Given the description of an element on the screen output the (x, y) to click on. 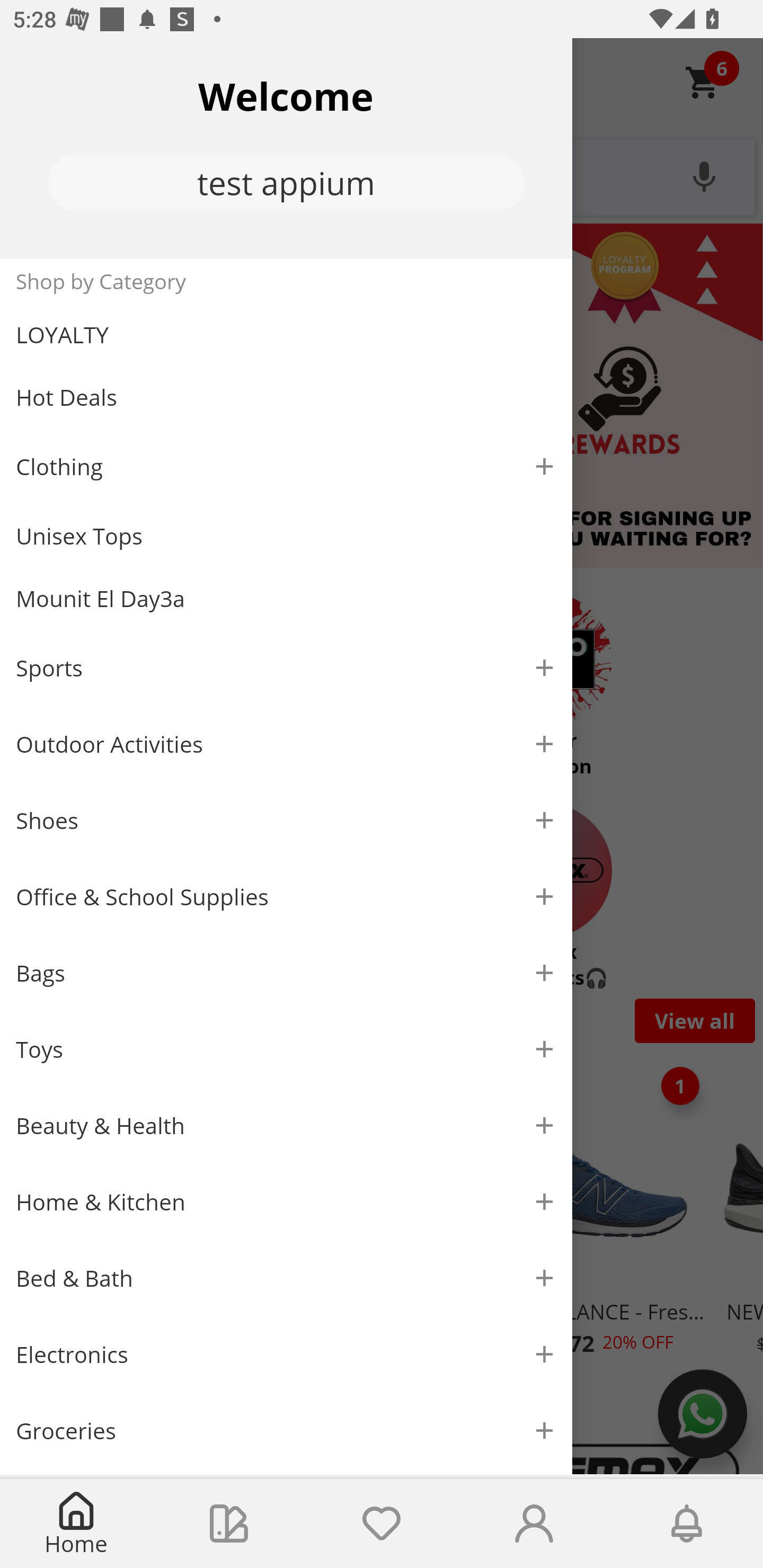
Welcome test appium (286, 147)
What are you looking for? (381, 175)
LOYALTY (286, 334)
Hot Deals (286, 396)
Clothing (286, 466)
Unisex Tops (286, 535)
Mounit El Day3a (286, 598)
Sports (286, 667)
Outdoor Activities (286, 743)
Shoes (286, 820)
Office & School Supplies (286, 896)
Bags (286, 972)
Toys (286, 1049)
Beauty & Health (286, 1125)
Home & Kitchen (286, 1201)
Bed & Bath (286, 1278)
Electronics (286, 1354)
Groceries (286, 1430)
Collections (228, 1523)
Wishlist (381, 1523)
Account (533, 1523)
Notifications (686, 1523)
